Given the description of an element on the screen output the (x, y) to click on. 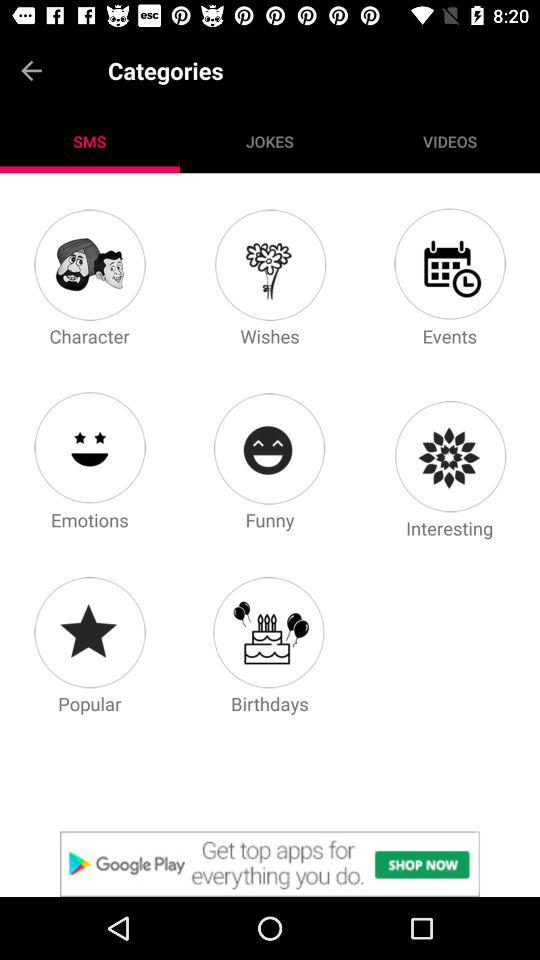
click birthdays icon (269, 632)
